Given the description of an element on the screen output the (x, y) to click on. 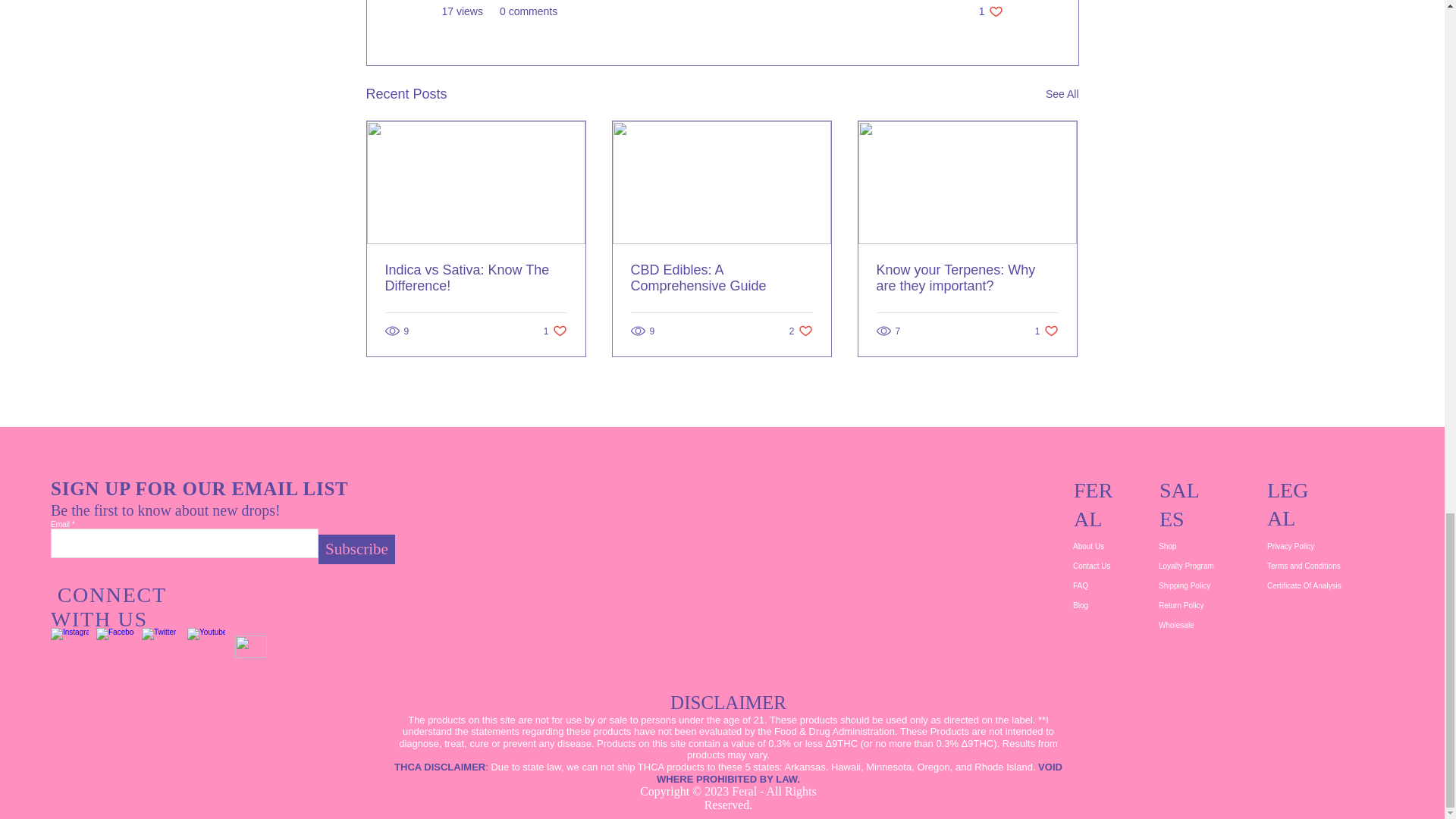
Terms and Conditions (1331, 566)
About Us (1111, 546)
Loyalty Program (1206, 566)
Indica vs Sativa: Know The Difference! (476, 278)
Privacy Policy (1331, 546)
Subscribe (356, 549)
Know your Terpenes: Why are they important? (967, 278)
Shipping Policy (1206, 586)
Wholesale (1206, 625)
See All (1061, 94)
